Given the description of an element on the screen output the (x, y) to click on. 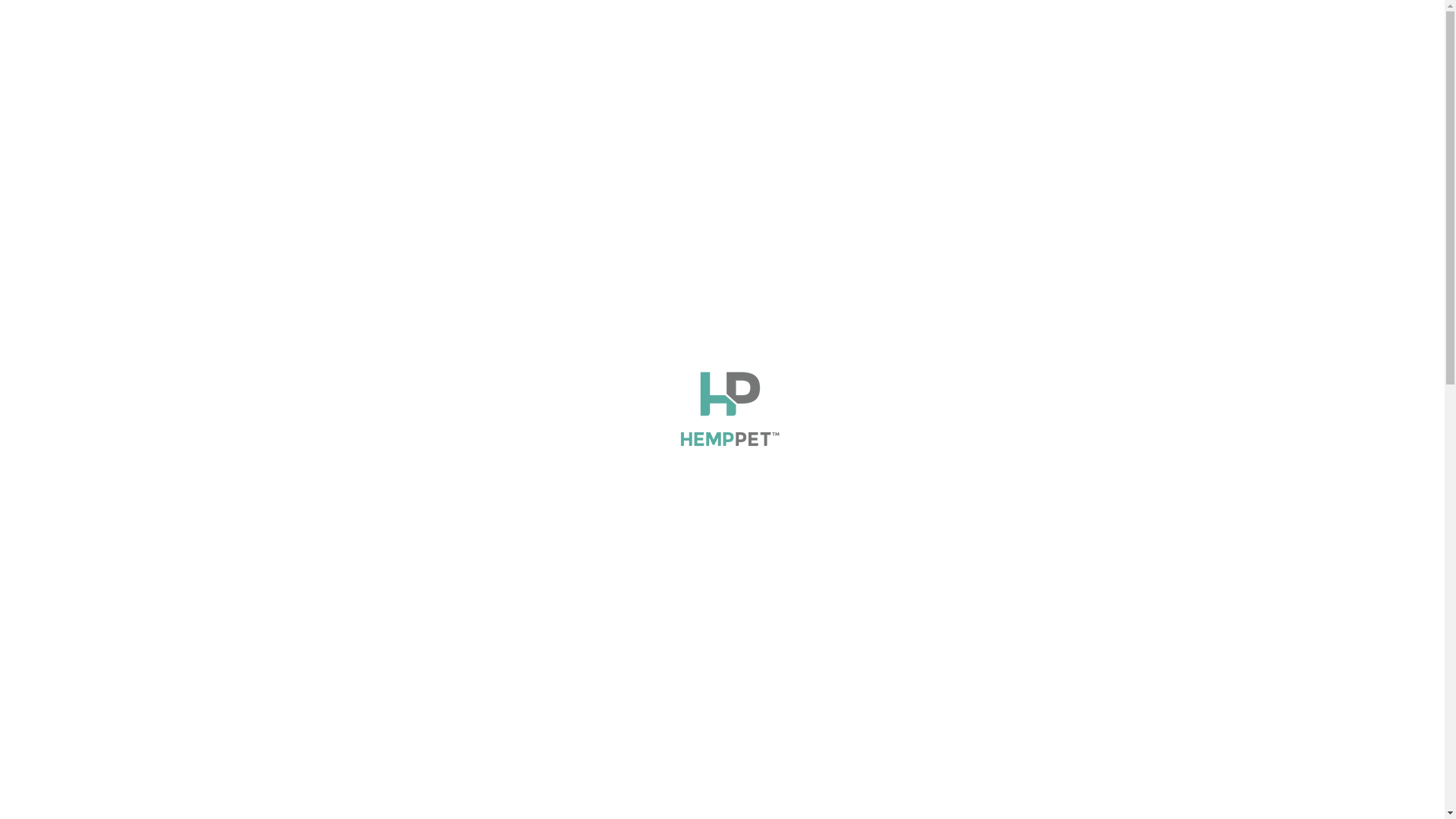
Open image lightbox Element type: text (460, 411)
